Given the description of an element on the screen output the (x, y) to click on. 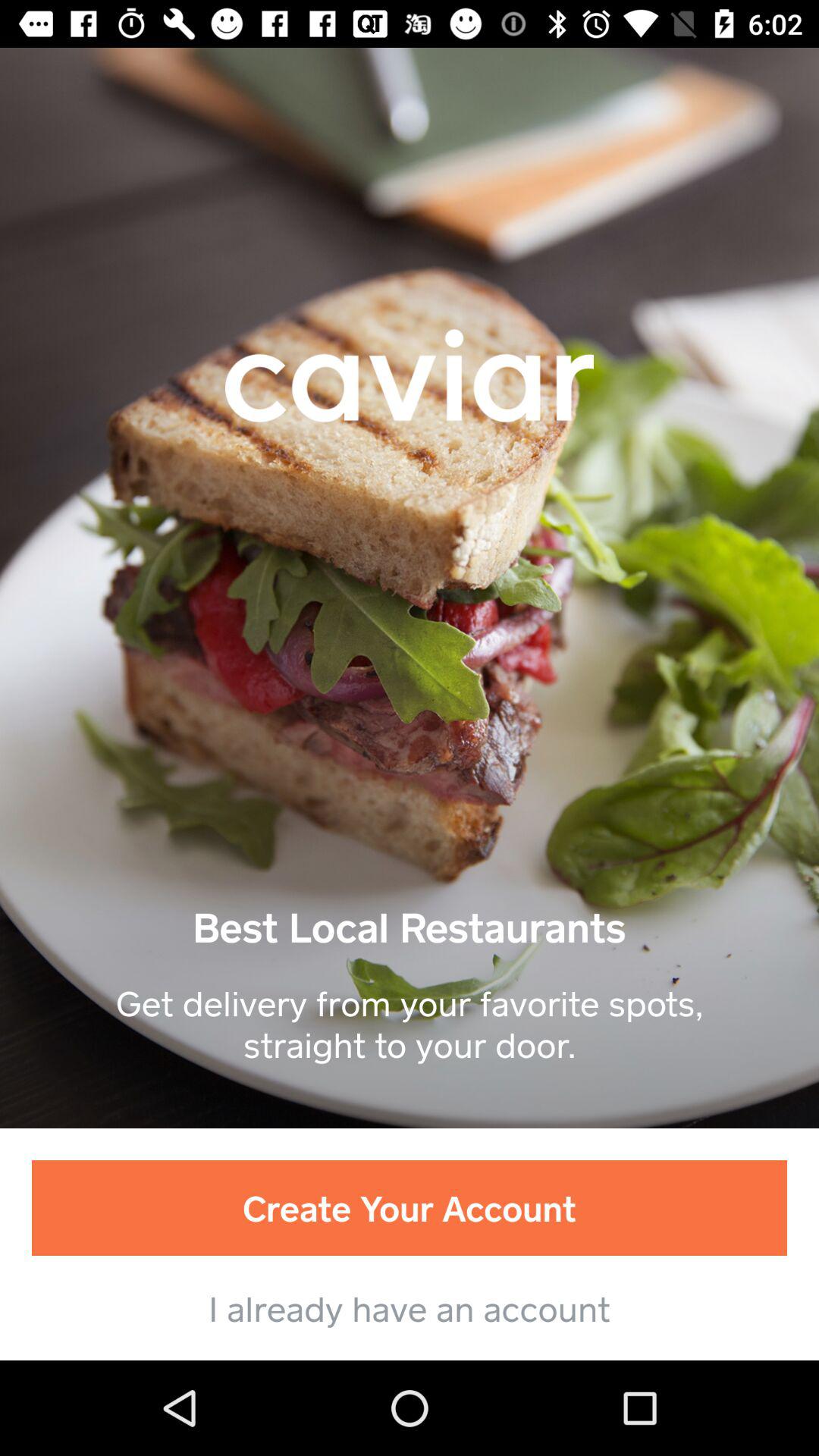
click i already have item (409, 1307)
